Given the description of an element on the screen output the (x, y) to click on. 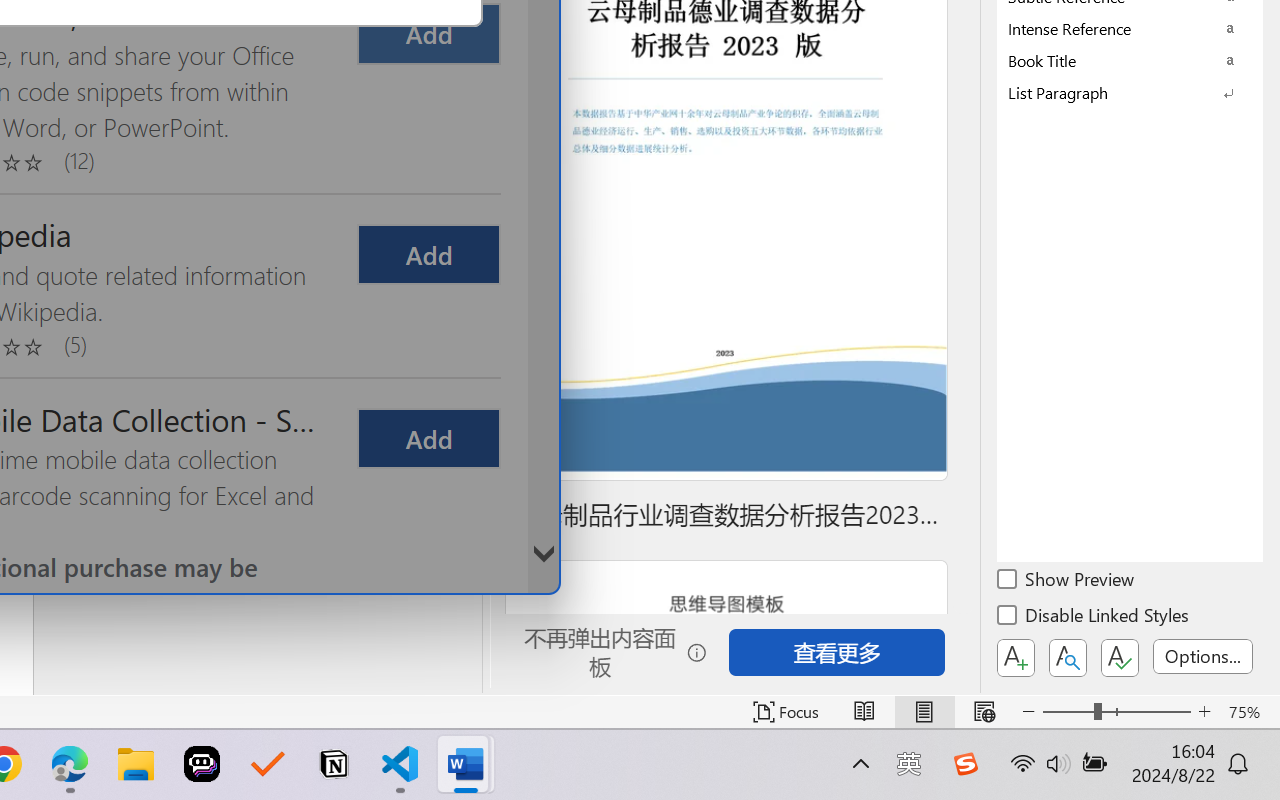
Class: NetUIImage (1116, 92)
Print Layout (924, 712)
List Paragraph (1130, 92)
Web Layout (984, 712)
Zoom Out (1067, 712)
Notion (333, 764)
Class: Image (965, 764)
Focus  (786, 712)
Book Title (1130, 60)
